Given the description of an element on the screen output the (x, y) to click on. 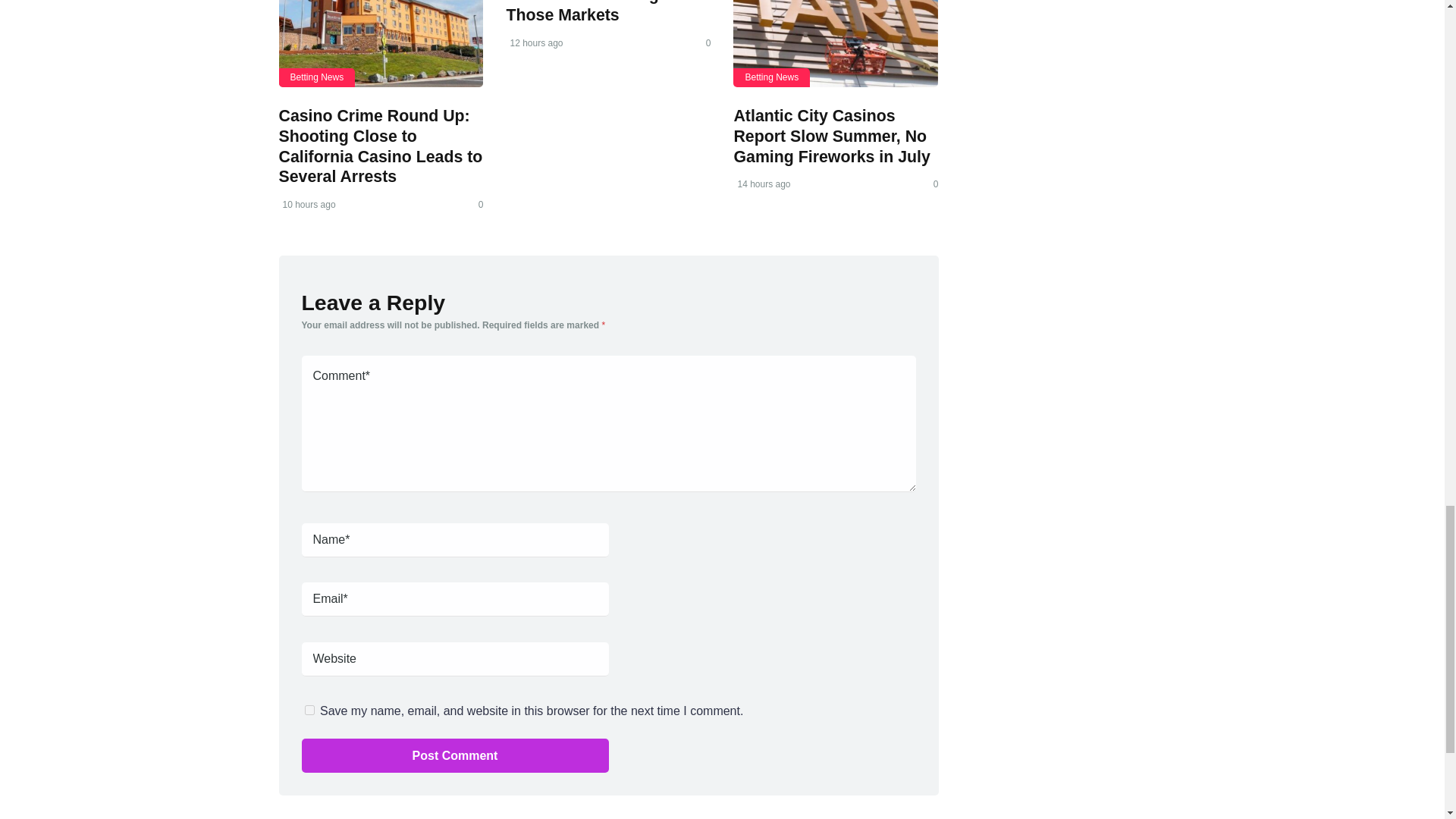
Post Comment (454, 755)
Betting News (771, 76)
NBA Awards Voters Barred from Betting on Those Markets (593, 12)
yes (309, 709)
